Given the description of an element on the screen output the (x, y) to click on. 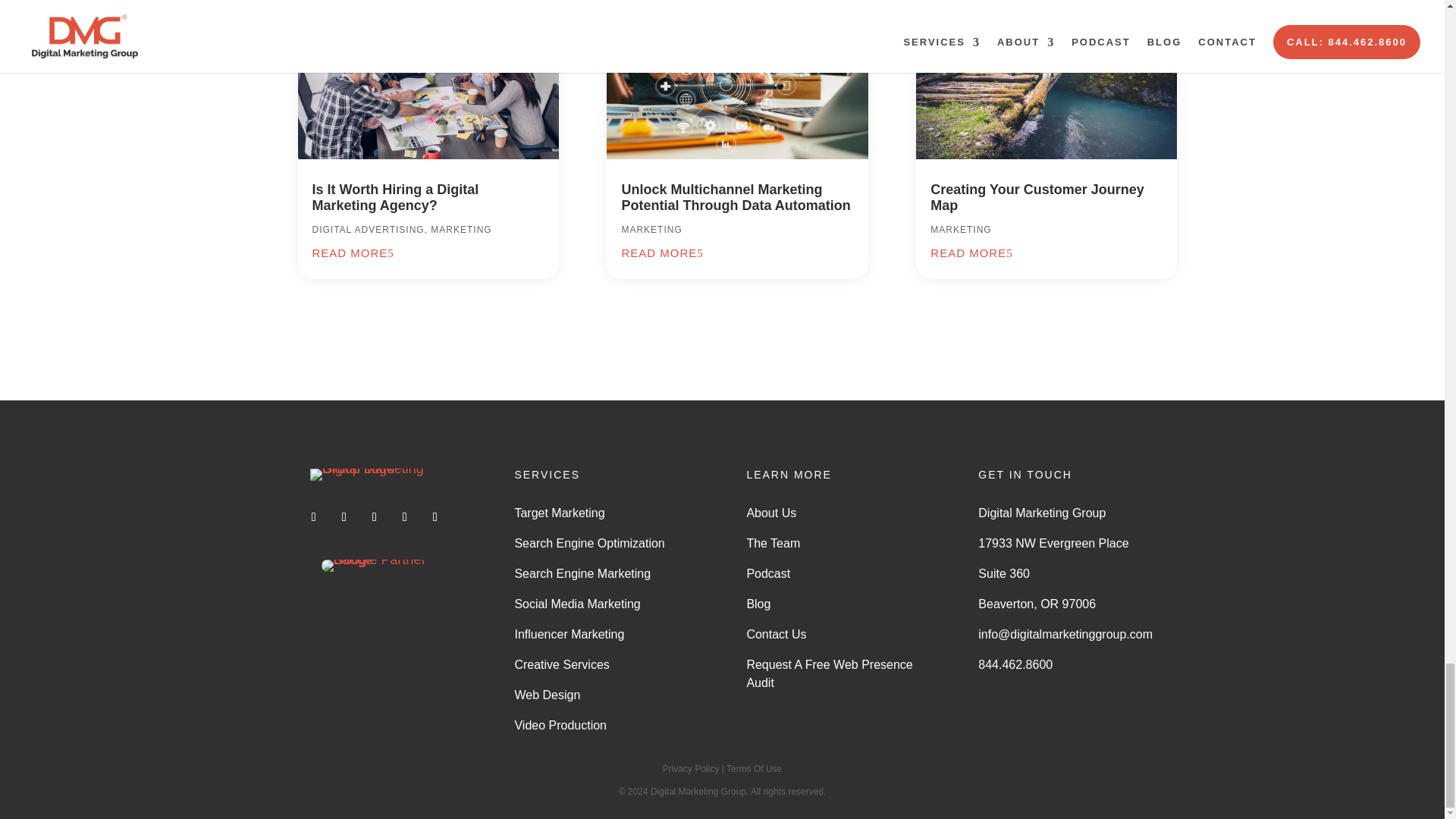
MARKETING (960, 229)
MARKETING (461, 229)
DIGITAL ADVERTISING (369, 229)
Partner-RGB (374, 565)
Follow on Facebook (313, 517)
READ MORE (353, 252)
Follow on Instagram (404, 517)
Creating Your Customer Journey Map (1036, 197)
READ MORE (970, 252)
